Given the description of an element on the screen output the (x, y) to click on. 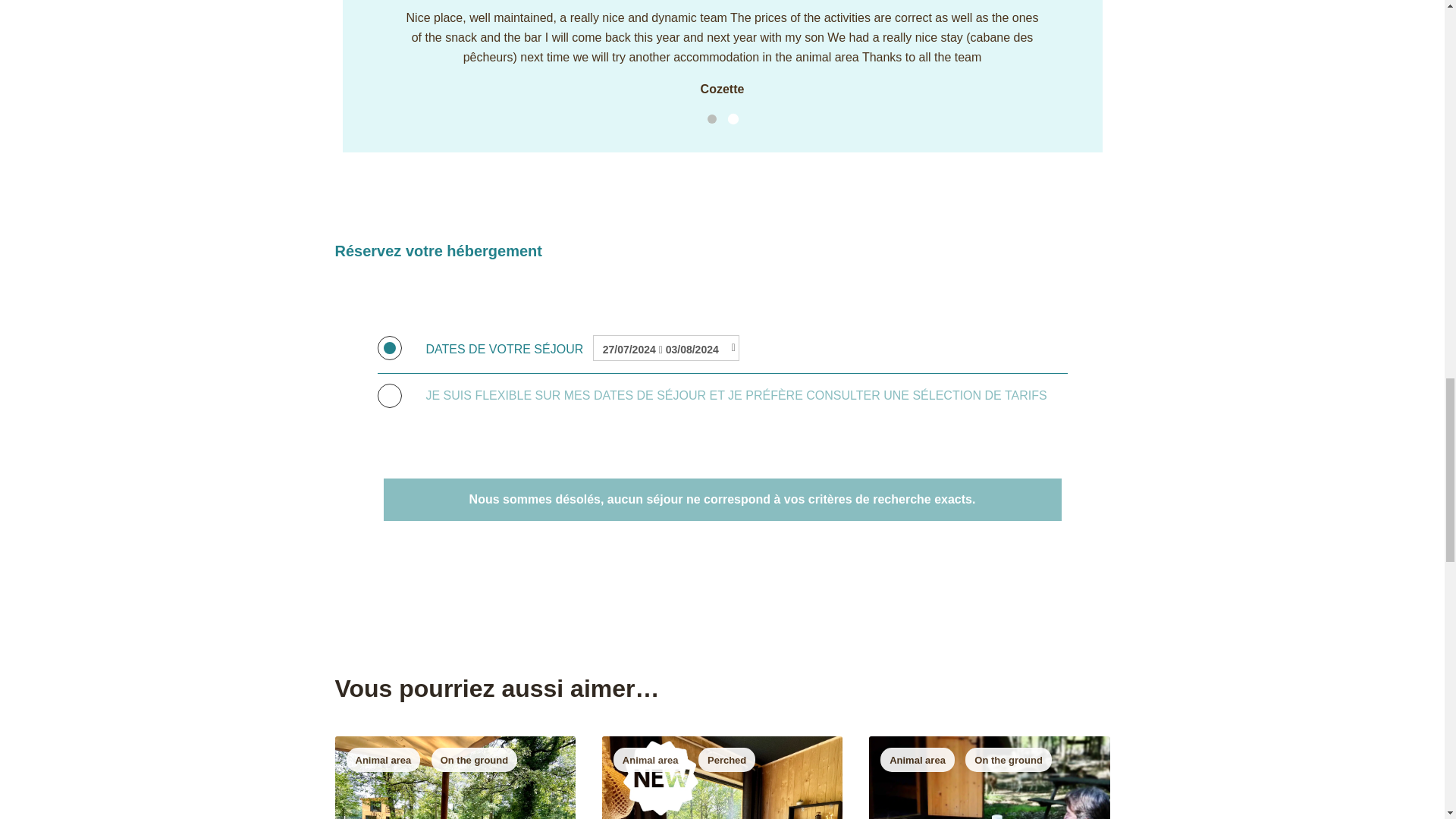
2 (731, 117)
1 (711, 118)
